Given the description of an element on the screen output the (x, y) to click on. 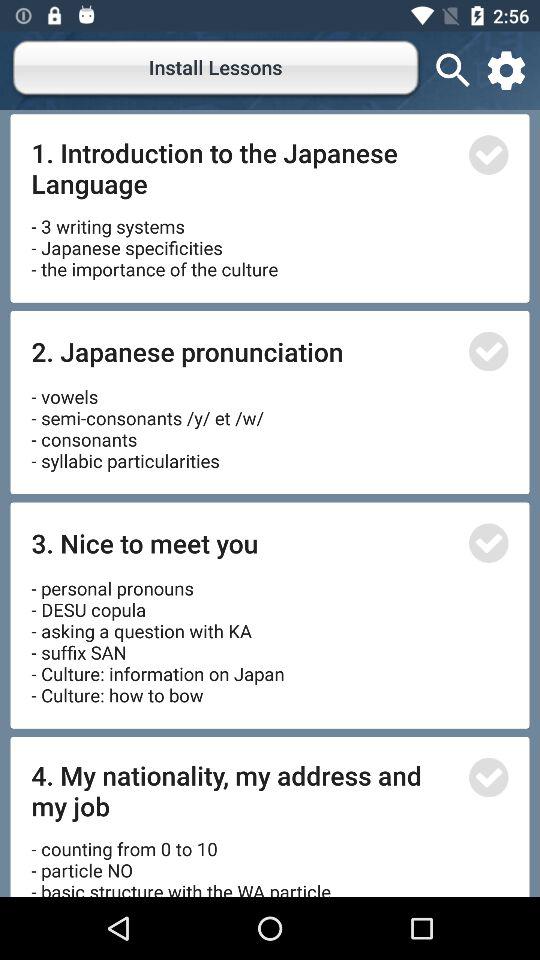
press the counting from 0 item (183, 859)
